Given the description of an element on the screen output the (x, y) to click on. 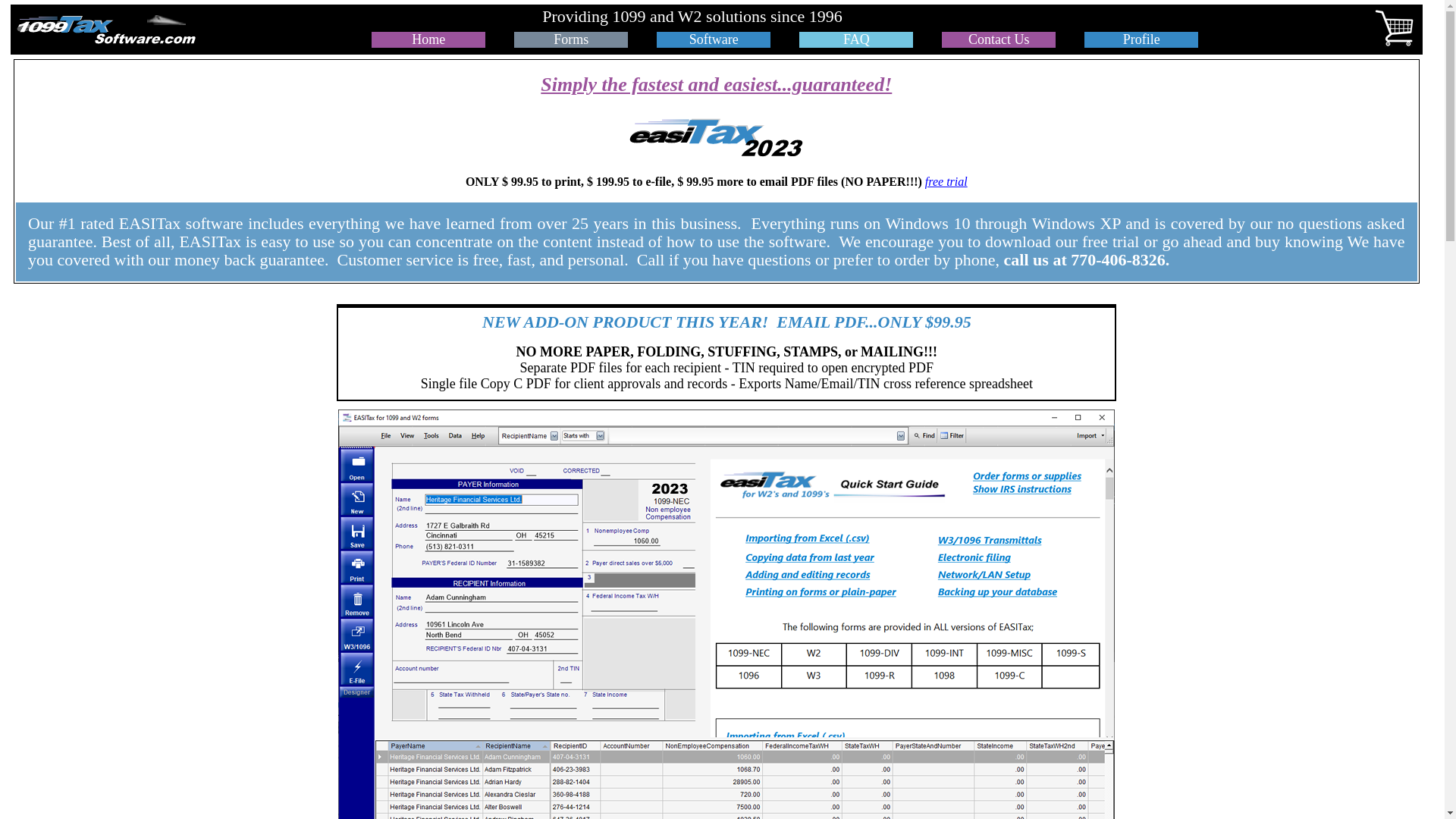
Forms Element type: text (570, 39)
Contact Us Element type: text (998, 39)
Profile Element type: text (1141, 39)
Home Element type: text (428, 39)
free trial Element type: text (946, 181)
Click to load cart with last year's order Element type: text (942, 18)
FAQ Element type: text (856, 39)
Software Element type: text (713, 39)
